Given the description of an element on the screen output the (x, y) to click on. 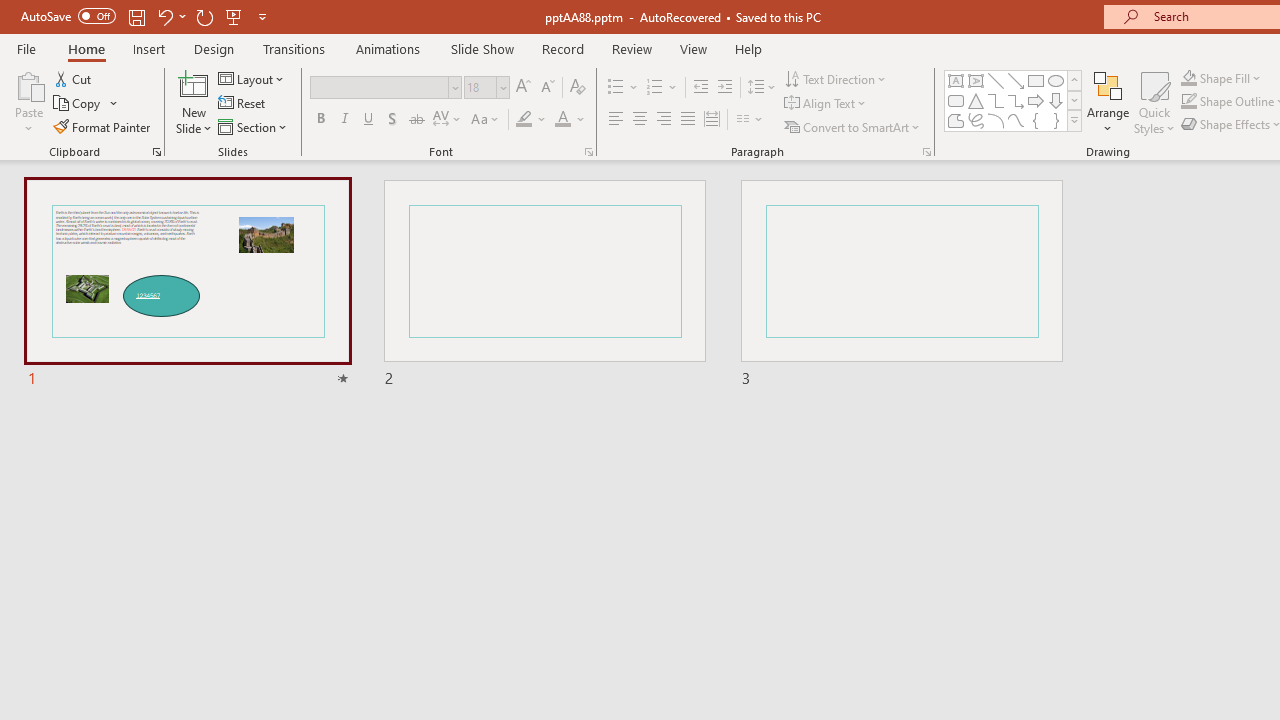
Shapes (1074, 120)
Reset (243, 103)
Font (379, 87)
Freeform: Shape (955, 120)
Cut (73, 78)
Italic (344, 119)
Arrow: Right (1035, 100)
Copy (85, 103)
Vertical Text Box (975, 80)
Text Box (955, 80)
Font... (588, 151)
